Given the description of an element on the screen output the (x, y) to click on. 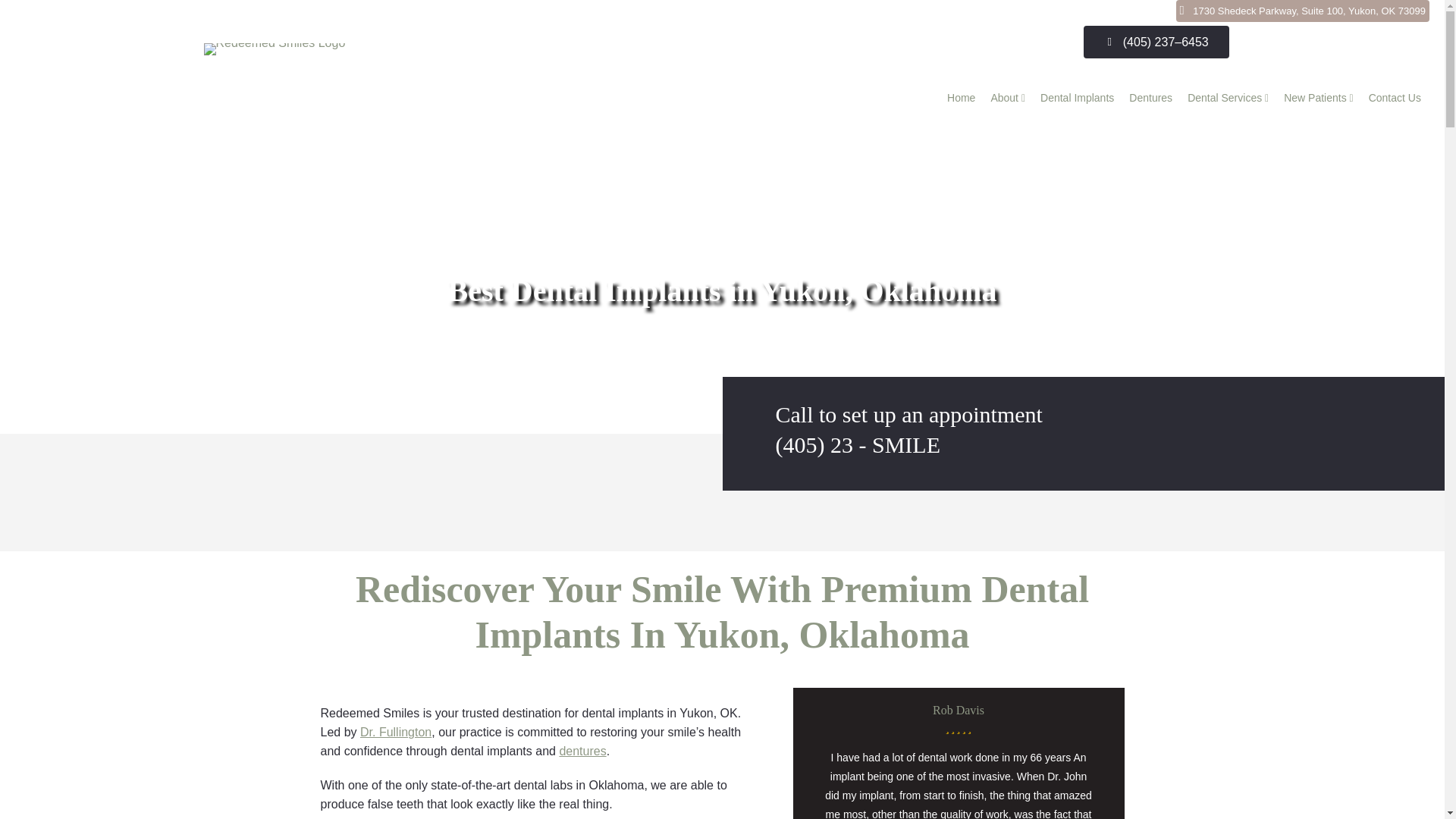
Redeemed-Smiles-Logo-Mobile (274, 49)
Click Here (1302, 11)
1730 Shedeck Parkway, Suite 100, Yukon, OK 73099 (1302, 11)
Dentures (1150, 98)
Home (960, 98)
Request an Appointment (1332, 41)
Dental Services (1227, 98)
Dental Implants (1076, 98)
About (1007, 98)
